Given the description of an element on the screen output the (x, y) to click on. 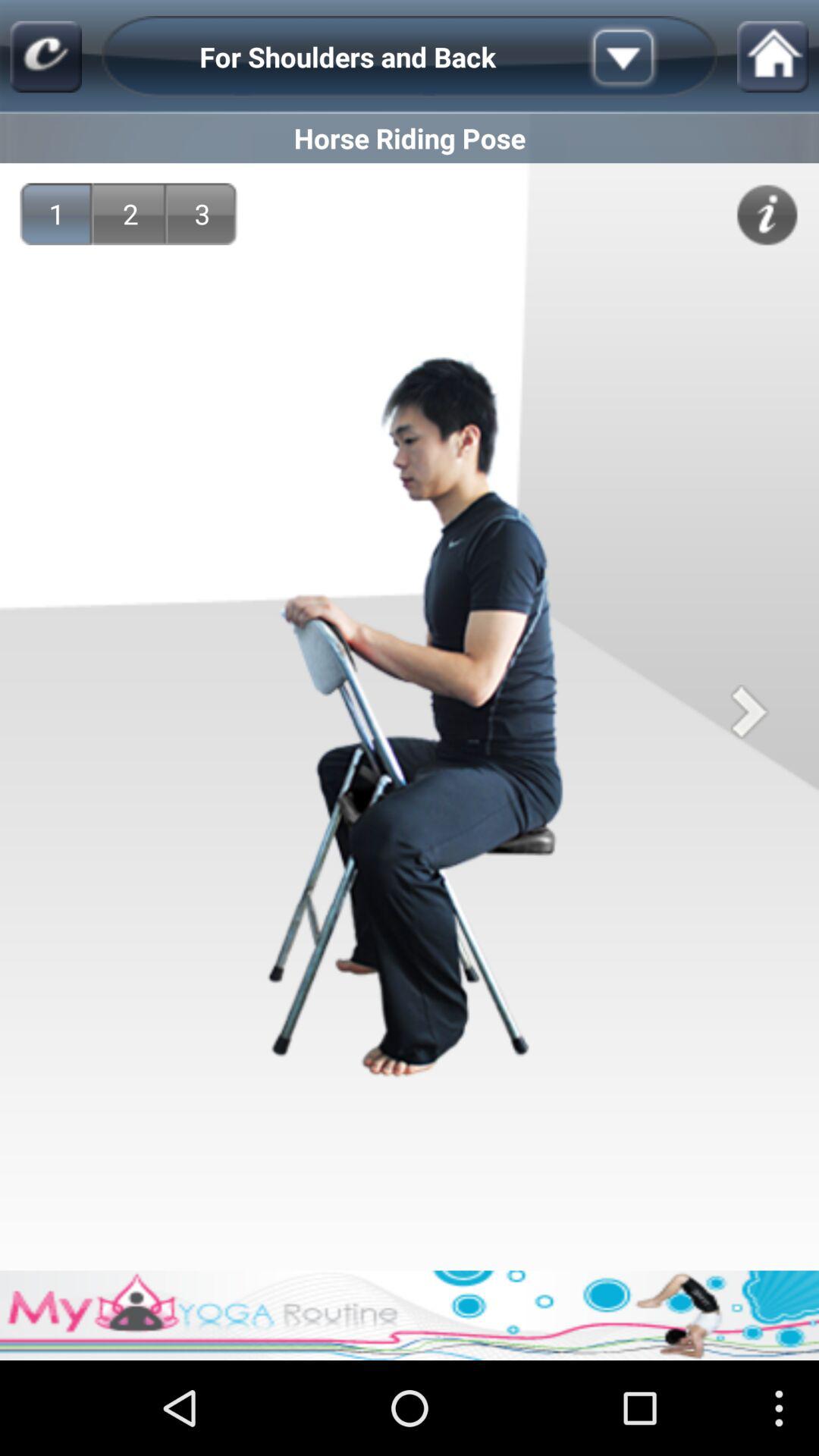
launch icon above the horse riding pose icon (45, 56)
